Given the description of an element on the screen output the (x, y) to click on. 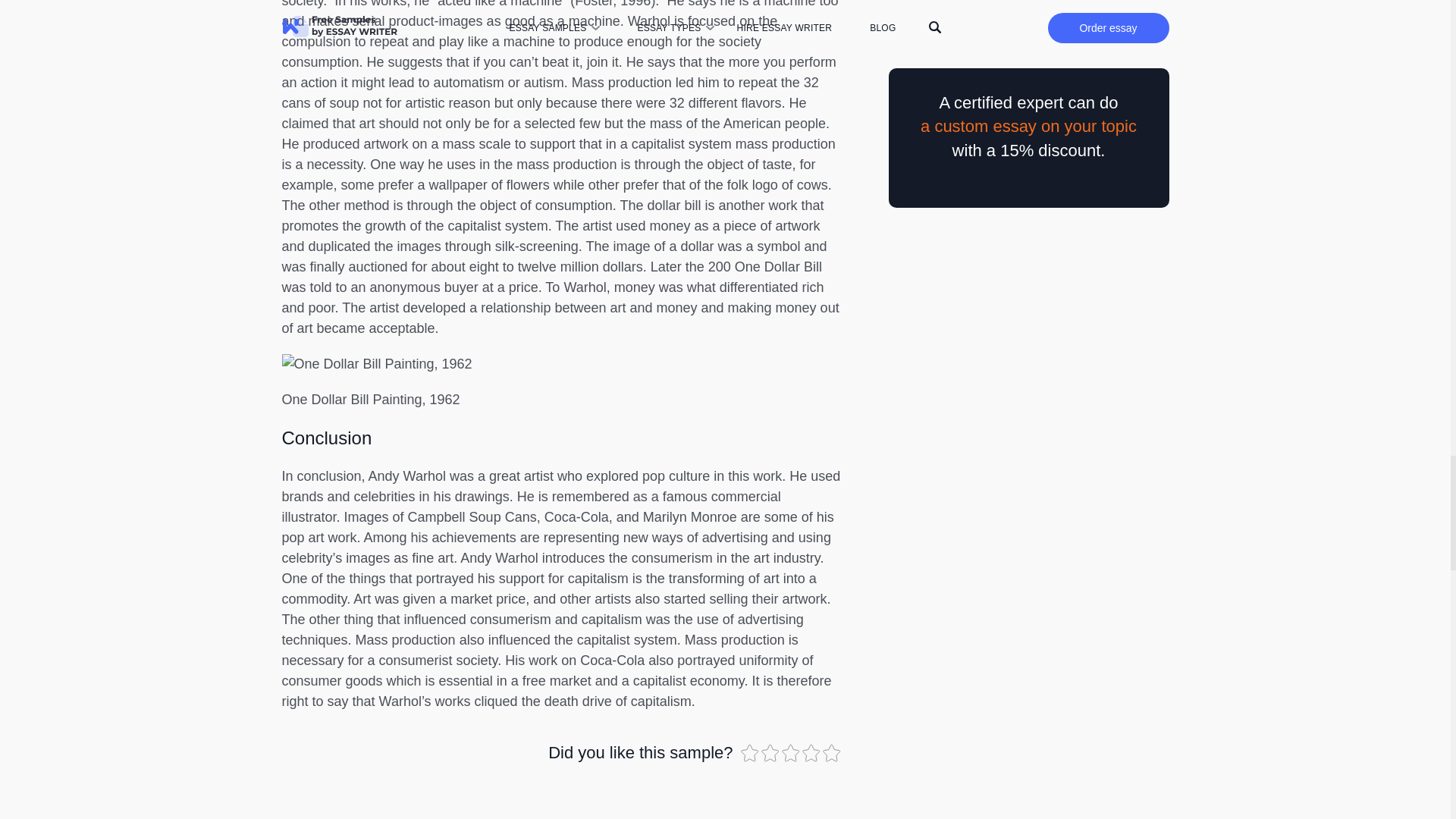
29 votes, average: 4.8 out of 5 (771, 752)
29 votes, average: 4.8 out of 5 (812, 752)
29 votes, average: 4.8 out of 5 (749, 752)
29 votes, average: 4.8 out of 5 (791, 752)
29 votes, average: 4.8 out of 5 (832, 752)
